Given the description of an element on the screen output the (x, y) to click on. 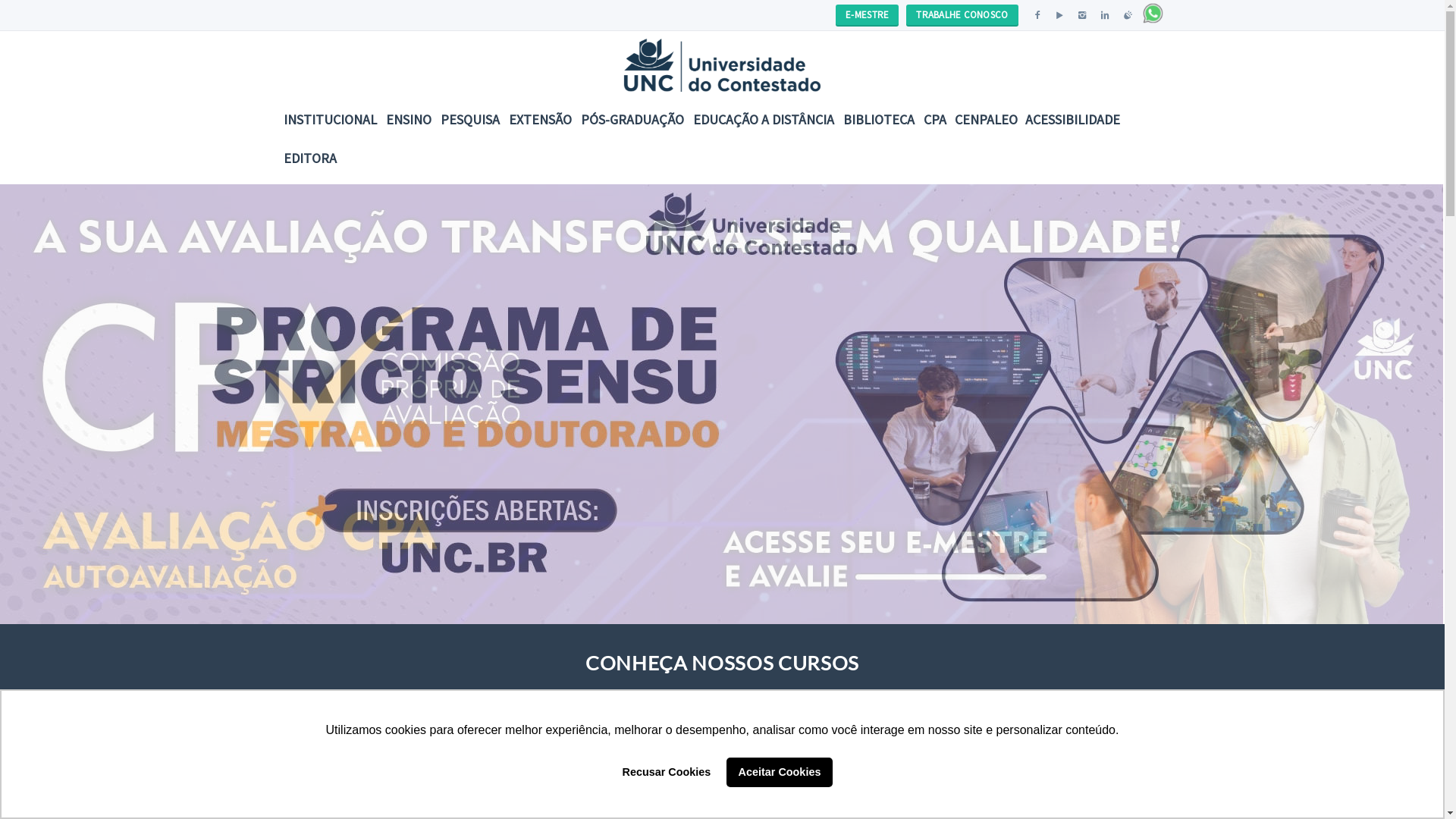
CENPALEO Element type: text (985, 119)
CPA Element type: text (934, 119)
E-MESTRE Element type: text (870, 15)
PESQUISA Element type: text (469, 119)
ENSINO Element type: text (407, 119)
Aceitar Cookies Element type: text (779, 771)
INSTITUCIONAL Element type: text (330, 119)
TRABALHE CONOSCO Element type: text (965, 15)
Recusar Cookies Element type: text (666, 771)
ACESSIBILIDADE Element type: text (1071, 119)
EDITORA Element type: text (310, 157)
BIBLIOTECA Element type: text (878, 119)
